Given the description of an element on the screen output the (x, y) to click on. 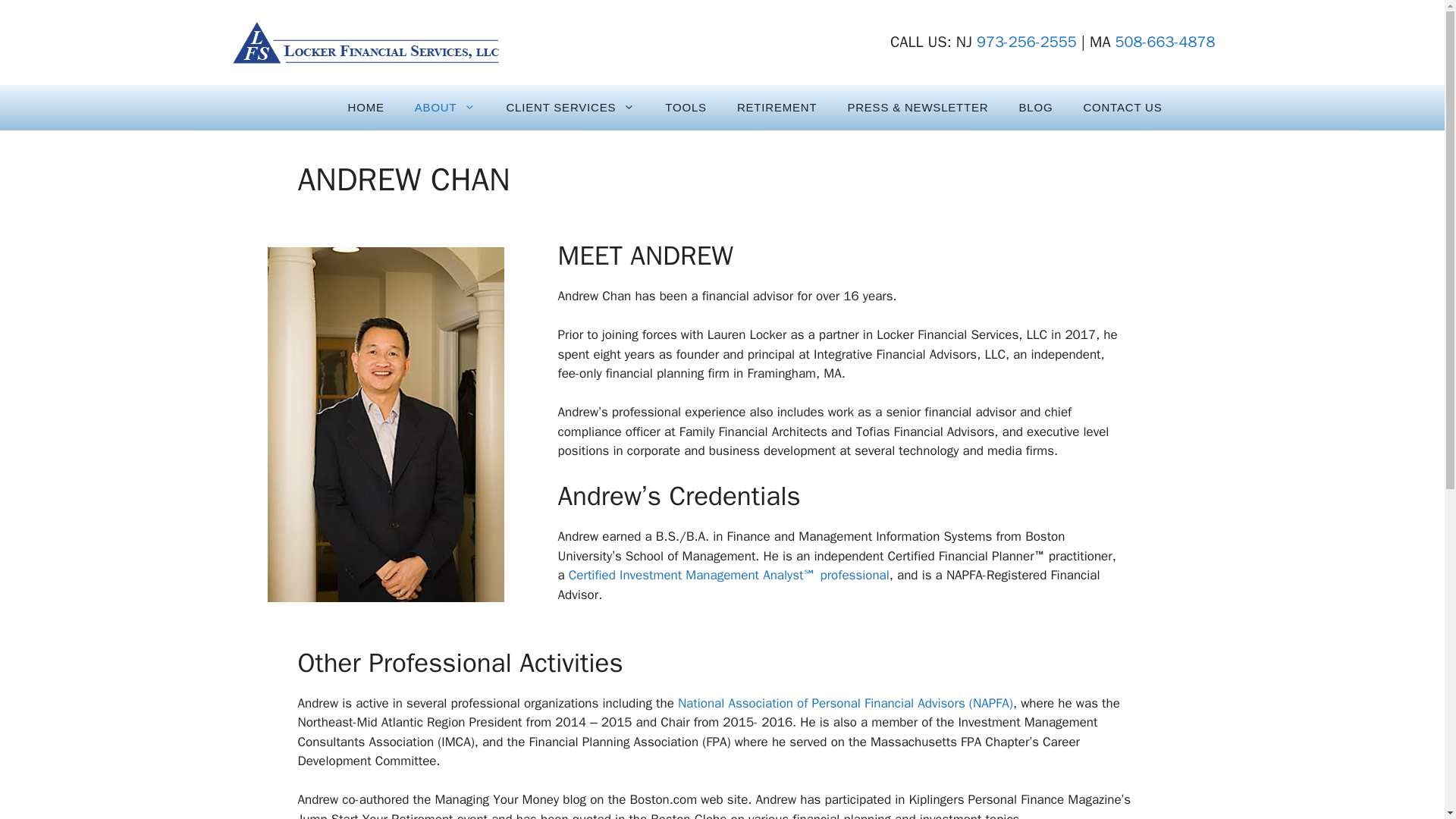
RETIREMENT (777, 107)
HOME (365, 107)
BLOG (1035, 107)
TOOLS (685, 107)
CONTACT US (1121, 107)
CLIENT SERVICES (569, 107)
973-256-2555 (1026, 41)
ABOUT (445, 107)
508-663-4878 (1165, 41)
